Given the description of an element on the screen output the (x, y) to click on. 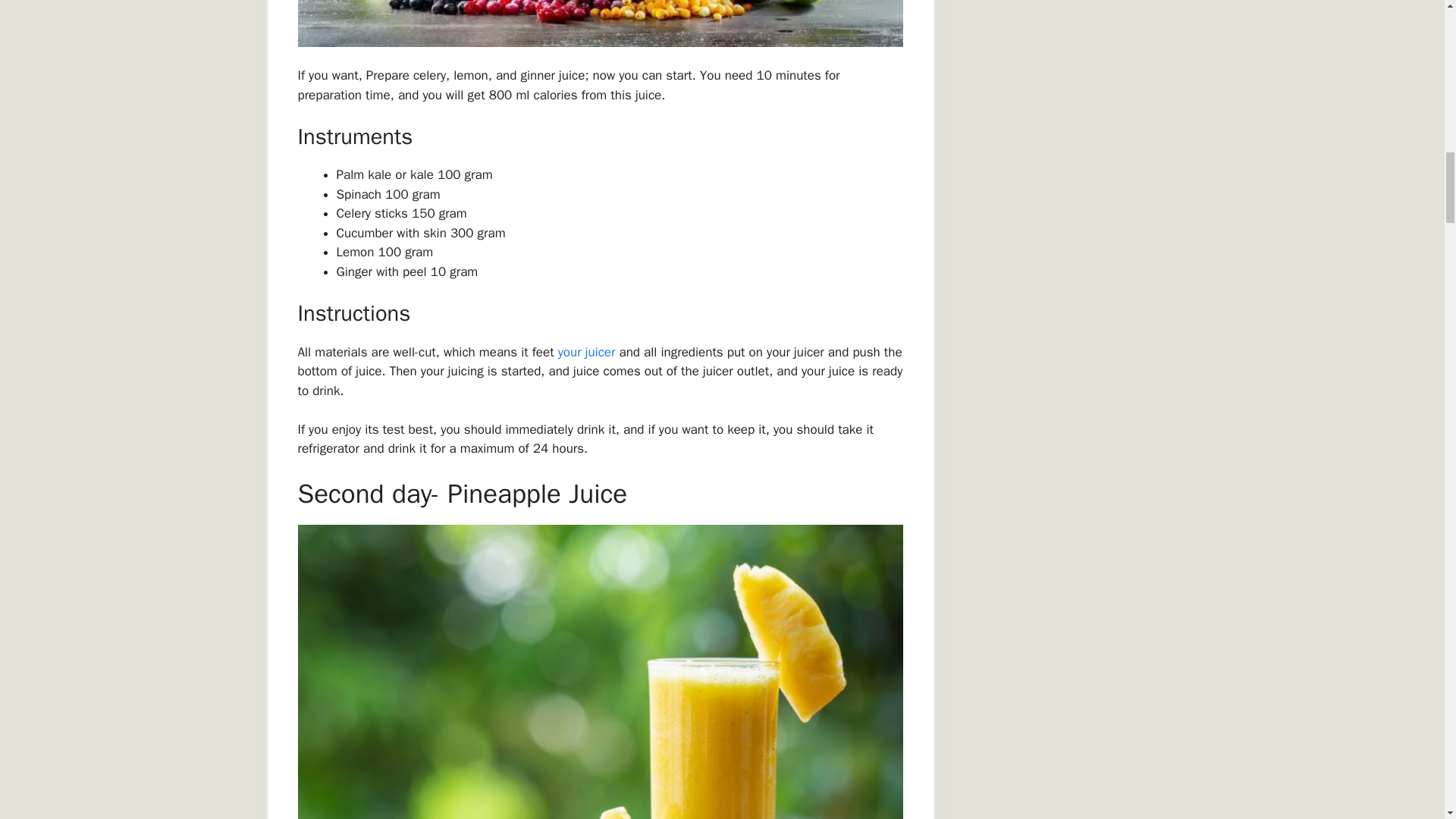
your juicer (586, 351)
